Given the description of an element on the screen output the (x, y) to click on. 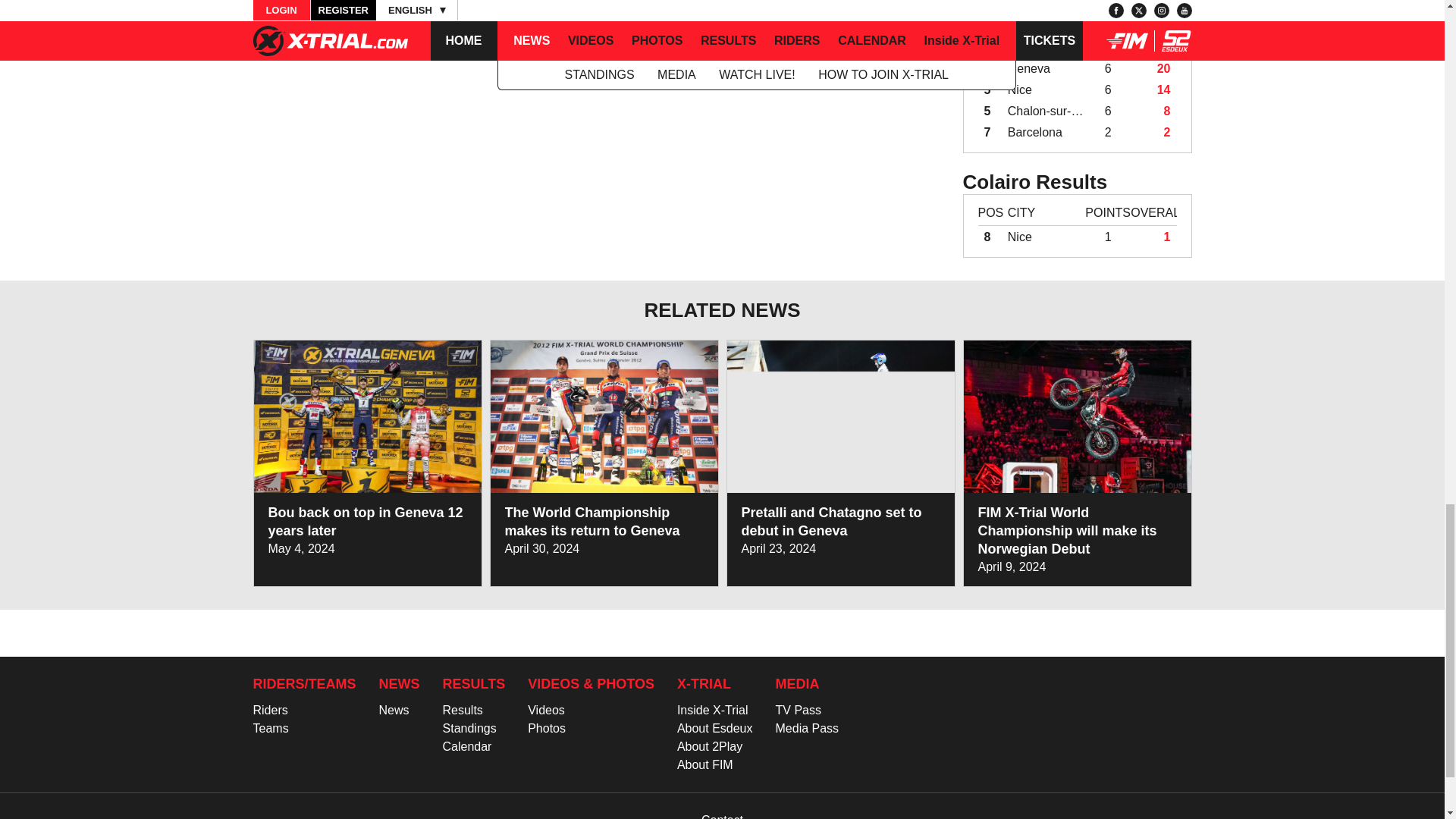
The World Championship makes its return to Geneva (592, 521)
Bou back on top in Geneva 12 years later (365, 521)
Pretalli and Chatagno set to debut in Geneva (831, 521)
FIM X-Trial World Championship will make its Norwegian Debut (1067, 530)
Riders (270, 709)
Teams (270, 727)
